Given the description of an element on the screen output the (x, y) to click on. 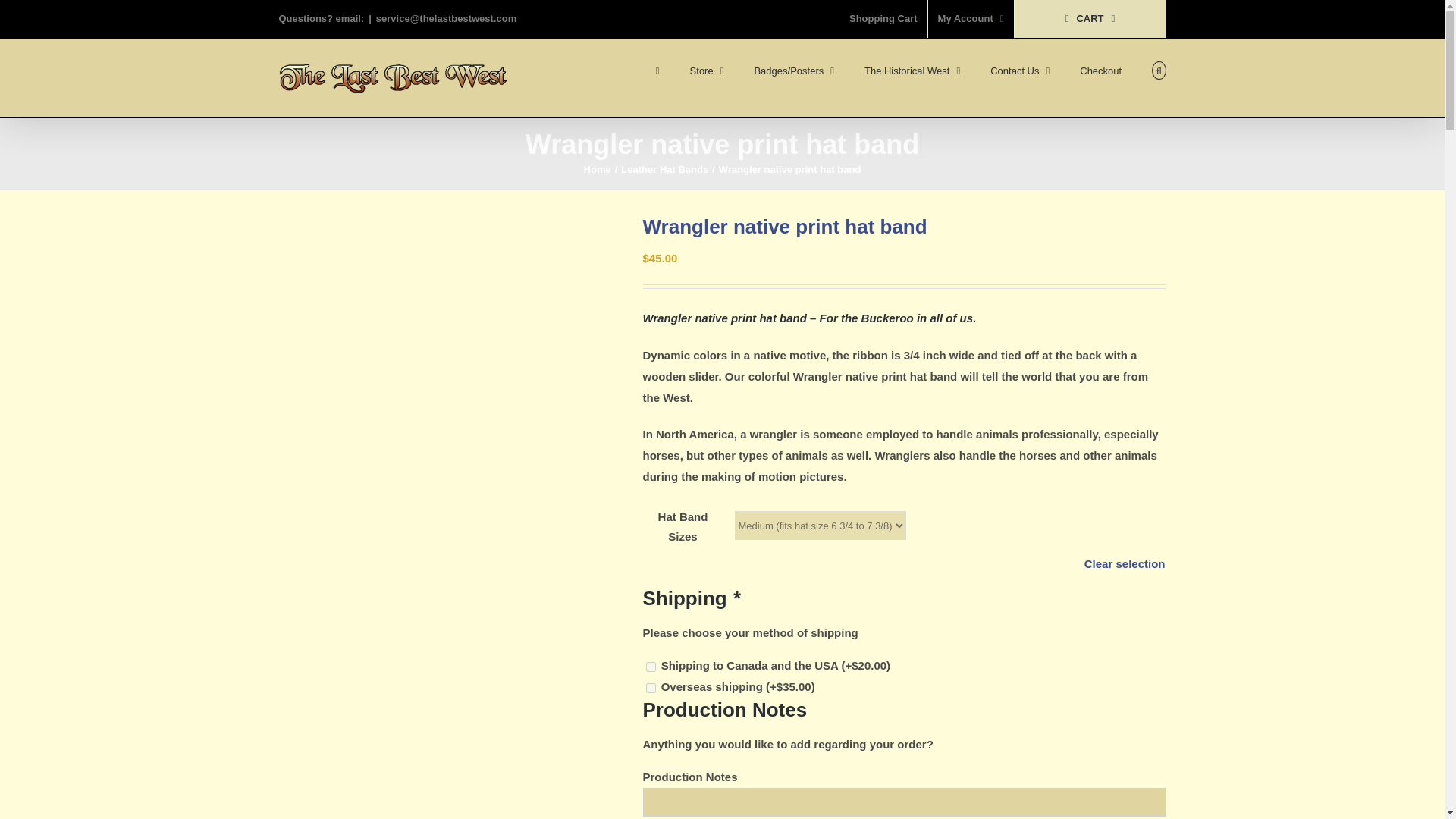
overseas-shipping (651, 687)
CART (1090, 18)
shipping-to-canada-and-the-usa (651, 666)
Shopping Cart (883, 18)
Log In (1029, 162)
My Account (970, 18)
